Given the description of an element on the screen output the (x, y) to click on. 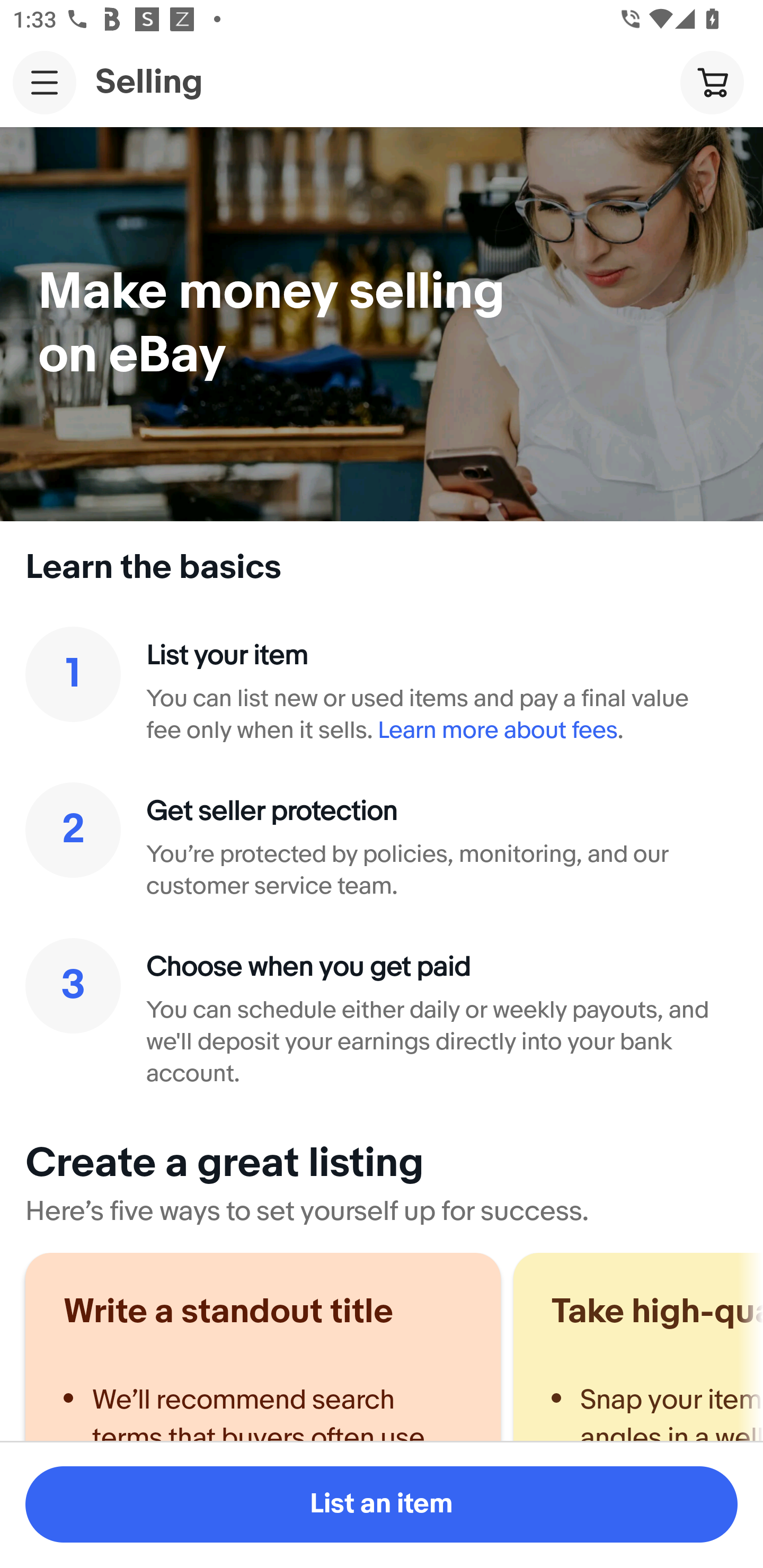
Main navigation, open (44, 82)
Cart button shopping cart (711, 81)
List an item (381, 1504)
